Given the description of an element on the screen output the (x, y) to click on. 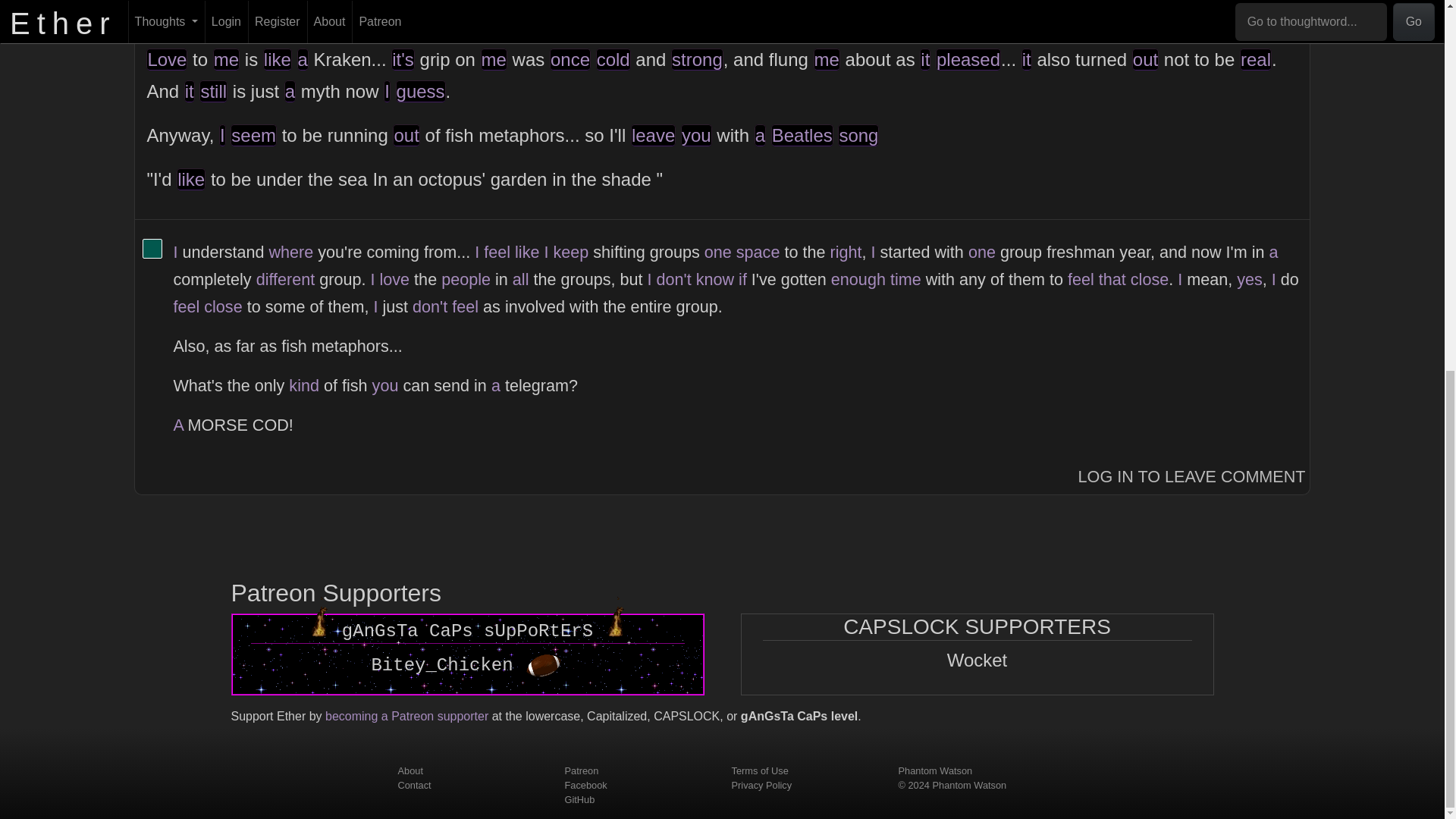
Watch out, this website might be too EDGY for you (318, 618)
If you're not too scared, join my radical webring (615, 618)
